Given the description of an element on the screen output the (x, y) to click on. 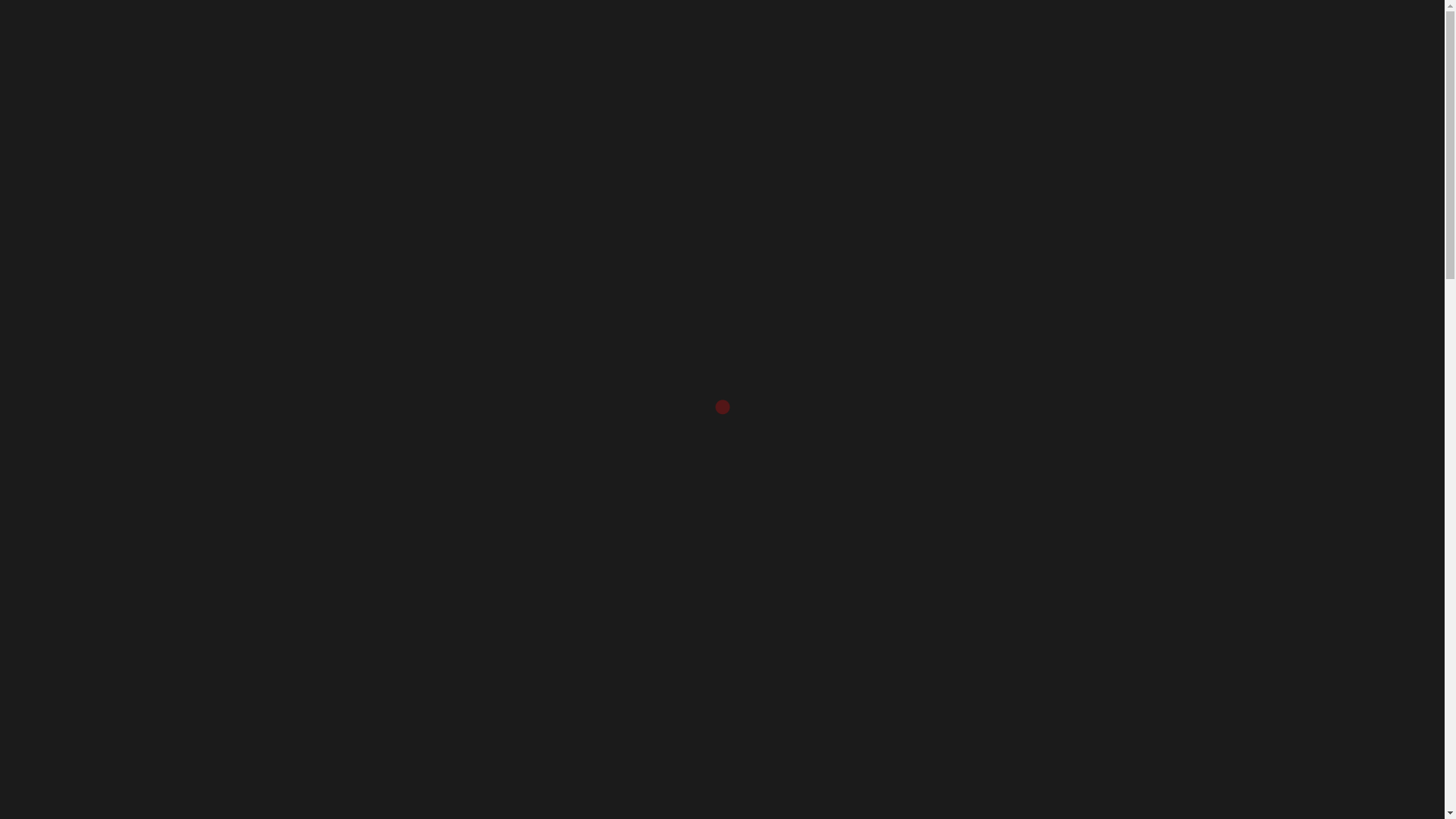
ESC ROOMS Element type: text (681, 190)
blog Element type: text (675, 30)
contact us Element type: text (554, 30)
our rooms Element type: text (232, 30)
SIGN IN Element type: text (1382, 29)
gift vouchers Element type: text (404, 30)
bar Element type: text (484, 30)
faq Element type: text (625, 30)
book now Element type: text (141, 30)
events Element type: text (313, 30)
